Given the description of an element on the screen output the (x, y) to click on. 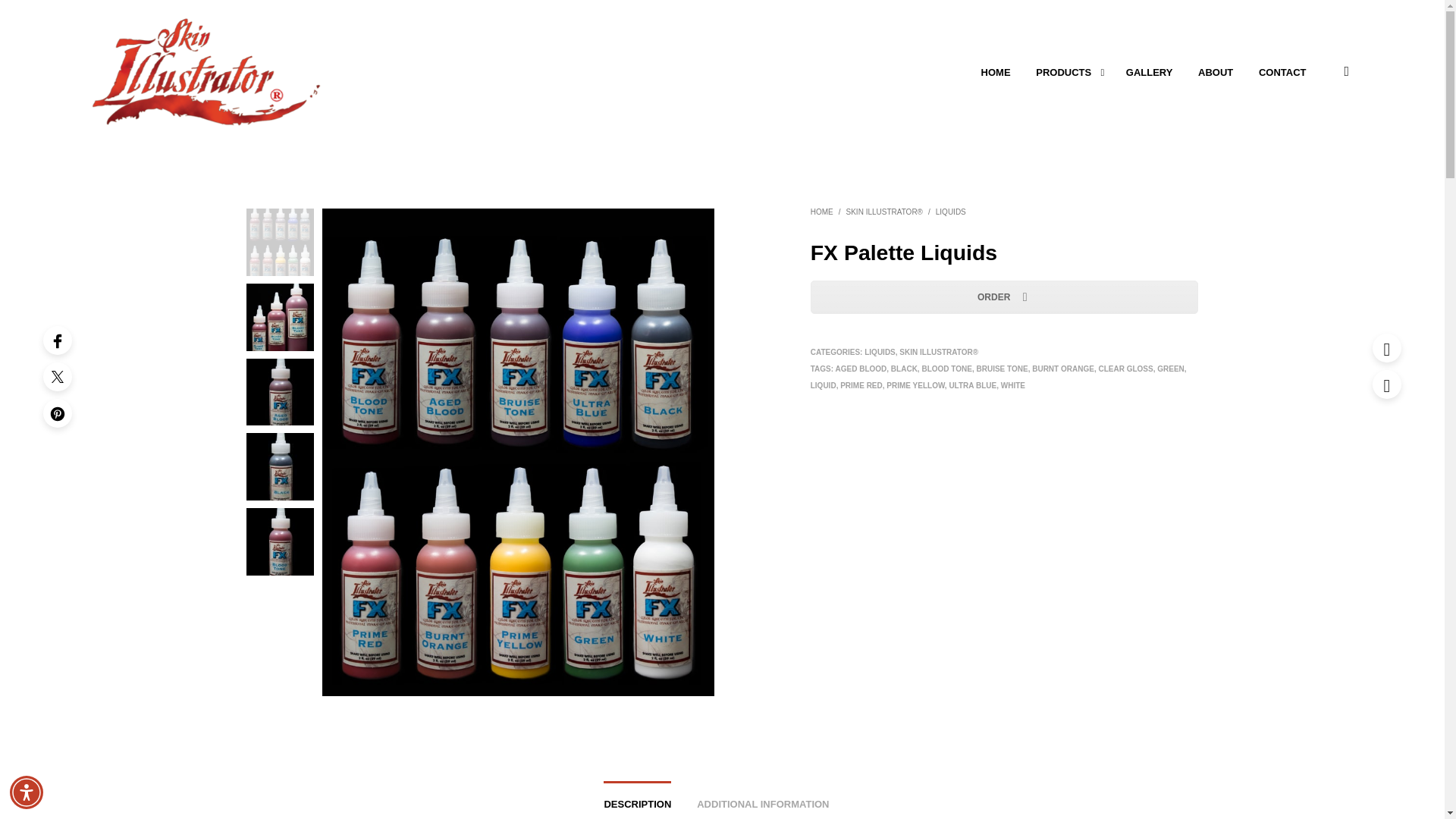
HOME (995, 72)
LIQUIDS (951, 212)
ABOUT (1215, 72)
AGED BLOOD (860, 368)
BLACK (904, 368)
Accessibility Menu (26, 792)
HOME (821, 212)
PRODUCTS (1063, 72)
BLOOD TONE (946, 368)
GALLERY (1150, 72)
LIQUIDS (879, 352)
ORDER (1004, 296)
CONTACT (1282, 72)
